Given the description of an element on the screen output the (x, y) to click on. 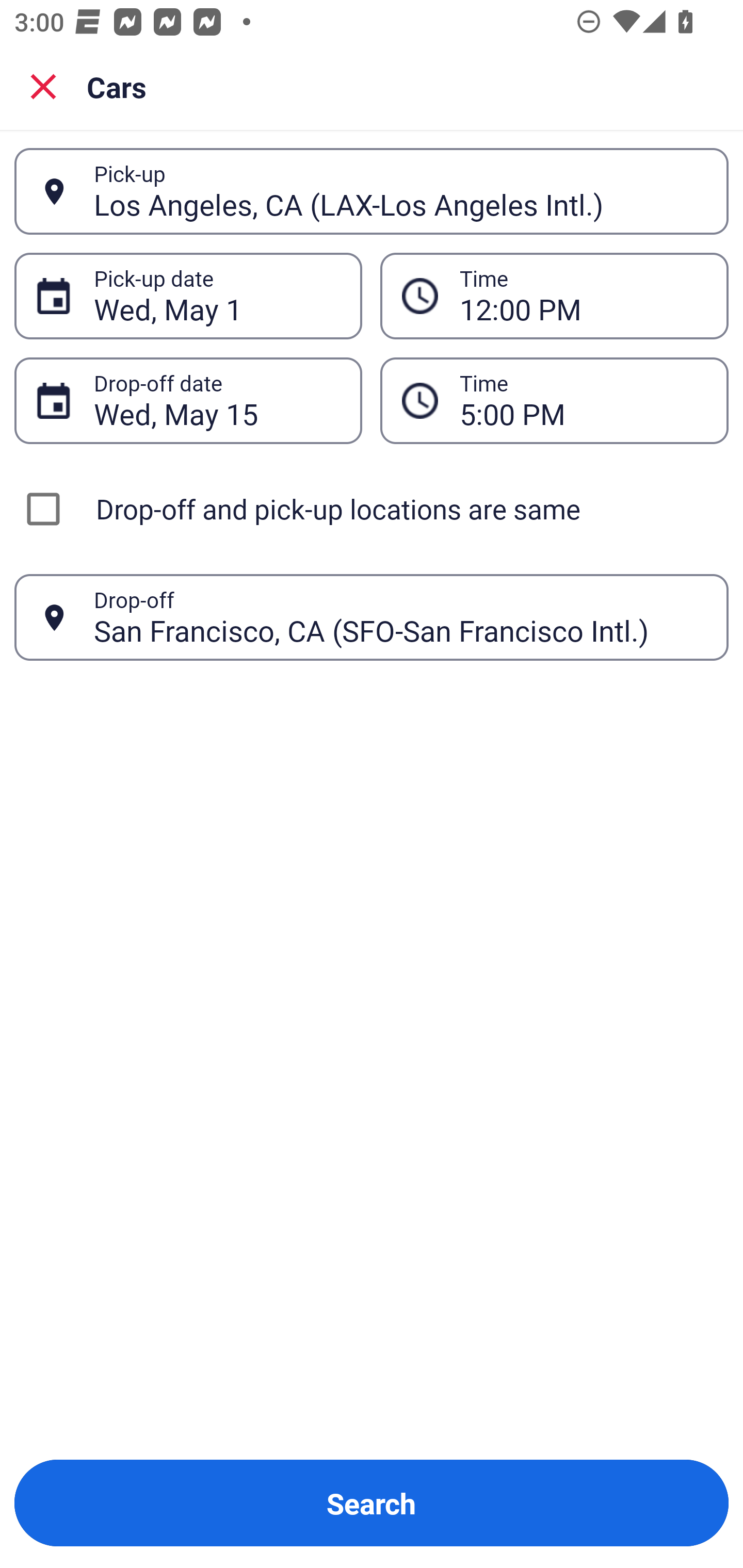
Close search screen (43, 86)
Los Angeles, CA (LAX-Los Angeles Intl.) Pick-up (371, 191)
Los Angeles, CA (LAX-Los Angeles Intl.) (399, 191)
Wed, May 1 Pick-up date (188, 295)
12:00 PM (554, 295)
Wed, May 1 (216, 296)
12:00 PM (582, 296)
Wed, May 15 Drop-off date (188, 400)
5:00 PM (554, 400)
Wed, May 15 (216, 400)
5:00 PM (582, 400)
Drop-off and pick-up locations are same (371, 508)
San Francisco, CA (SFO-San Francisco Intl.) (399, 616)
Search Button Search (371, 1502)
